Given the description of an element on the screen output the (x, y) to click on. 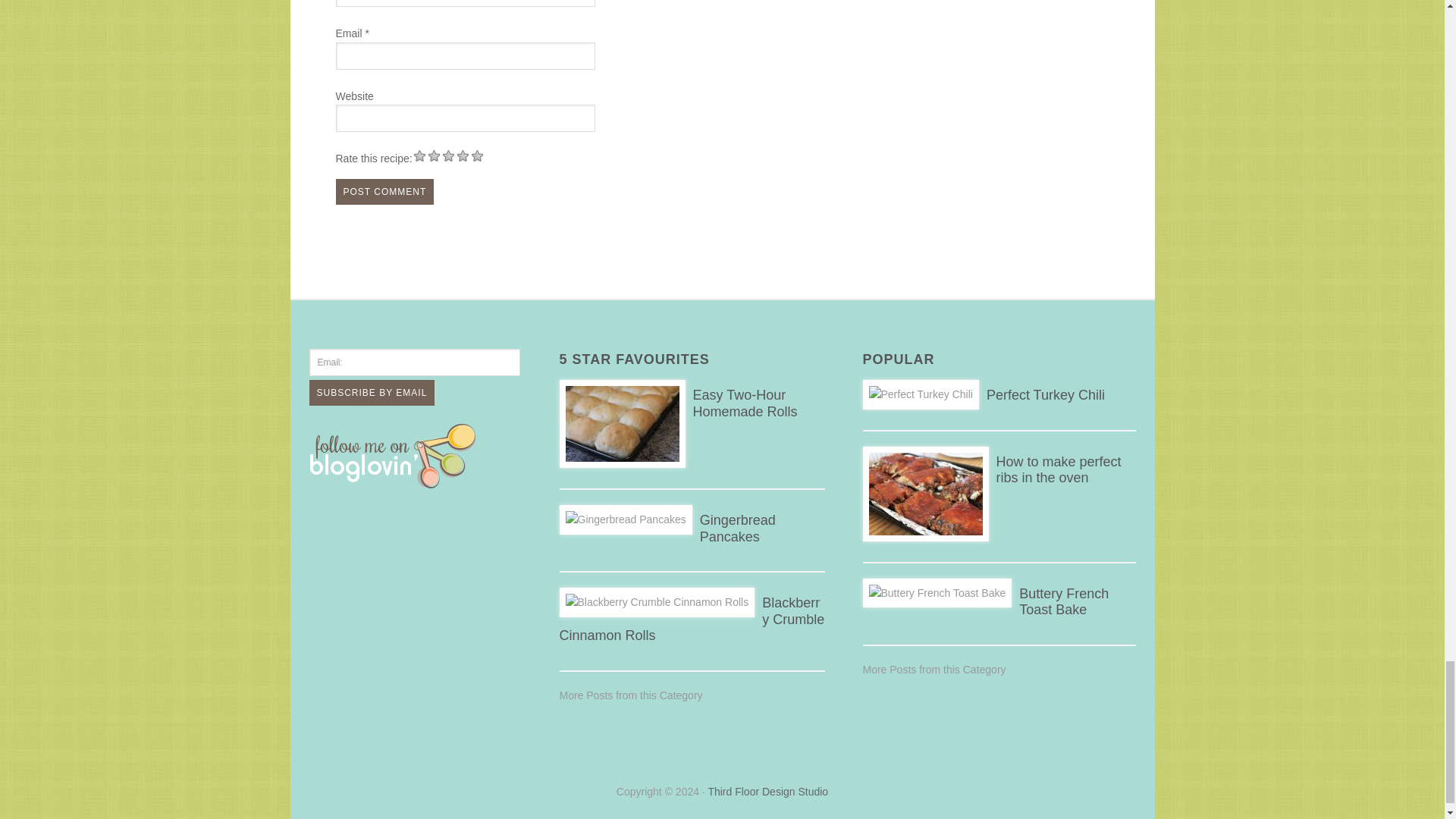
Subscribe by Email (371, 392)
Popular (934, 669)
Post Comment (383, 191)
Follow hiddenponies on Bloglovin (395, 481)
Reader Favourites (631, 695)
